Given the description of an element on the screen output the (x, y) to click on. 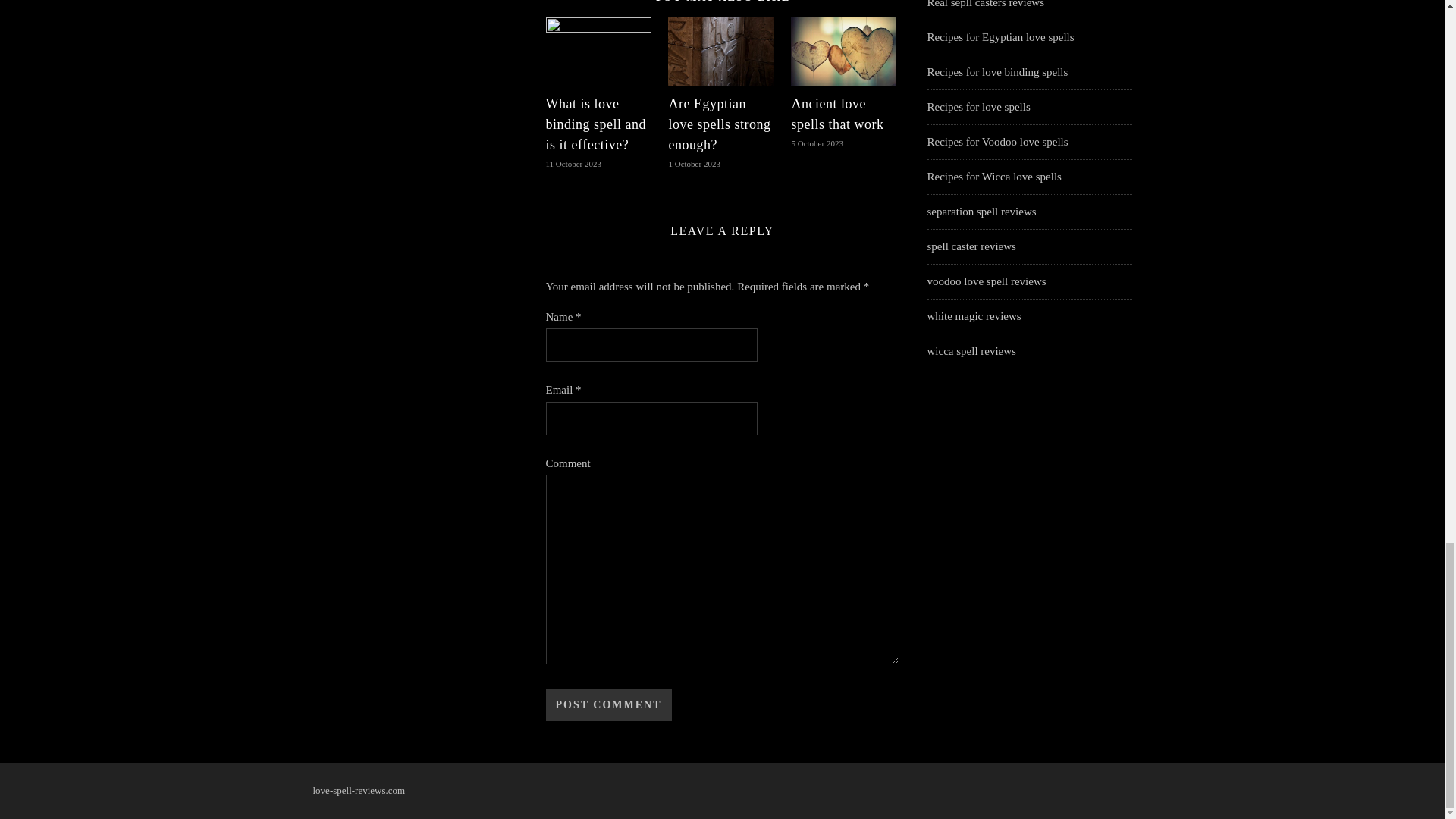
Post Comment (608, 705)
Ancient love spells that work (836, 113)
What is love binding spell and is it effective? (596, 124)
Are Egyptian love spells strong enough? (719, 124)
Post Comment (608, 705)
